Given the description of an element on the screen output the (x, y) to click on. 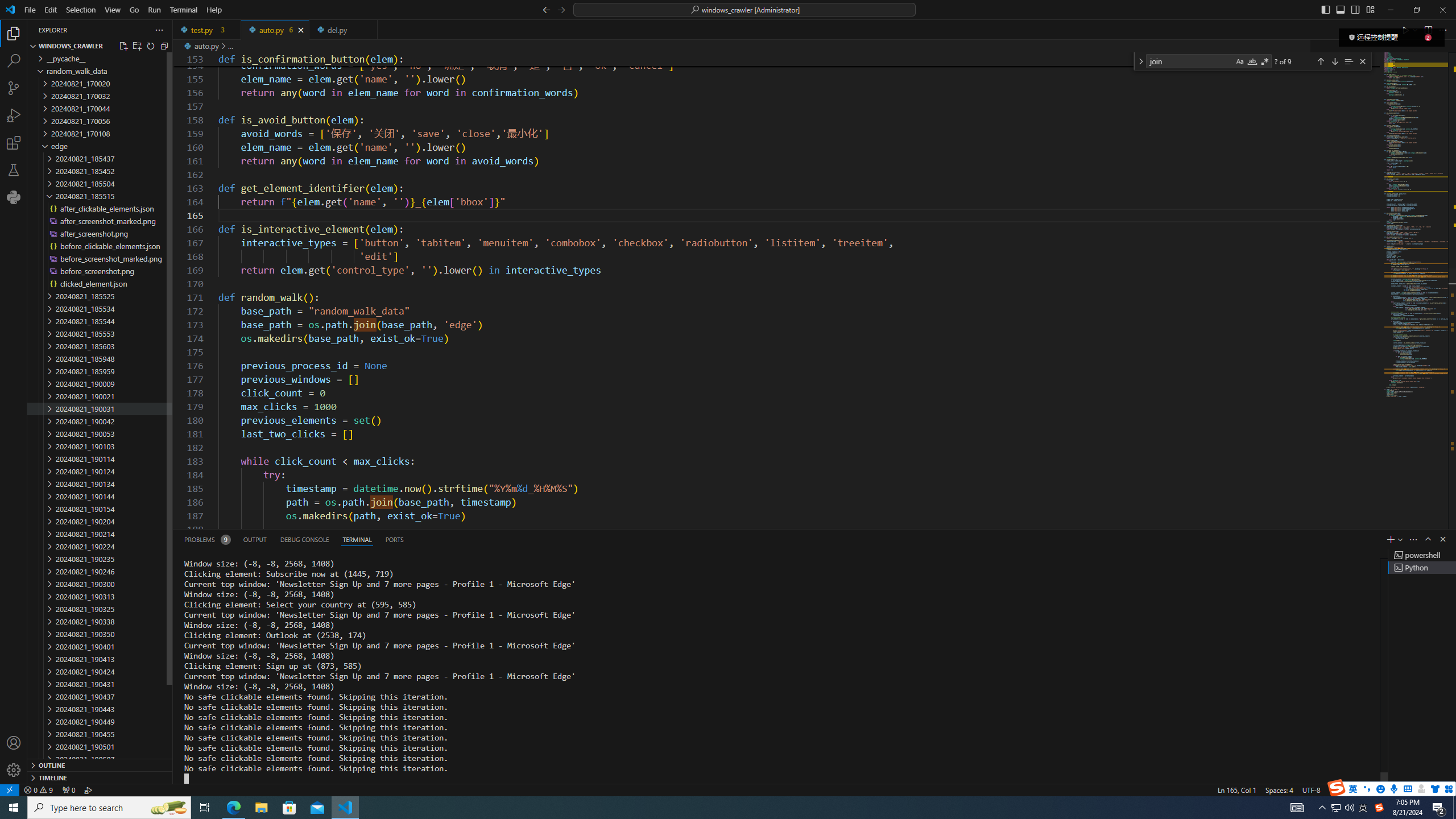
auto.py (274, 29)
Ln 165, Col 1 (1236, 789)
Maximize Panel Size (1428, 539)
Split Editor Right (Ctrl+\) [Alt] Split Editor Down (1428, 29)
Explorer actions (118, 29)
Find in Selection (Alt+L) (1348, 60)
Run or Debug... (1414, 29)
Explorer (Ctrl+Shift+E) (13, 33)
Terminal (Ctrl+`) (356, 539)
Editor actions (1425, 29)
Explorer Section: windows_crawler (99, 46)
